Given the description of an element on the screen output the (x, y) to click on. 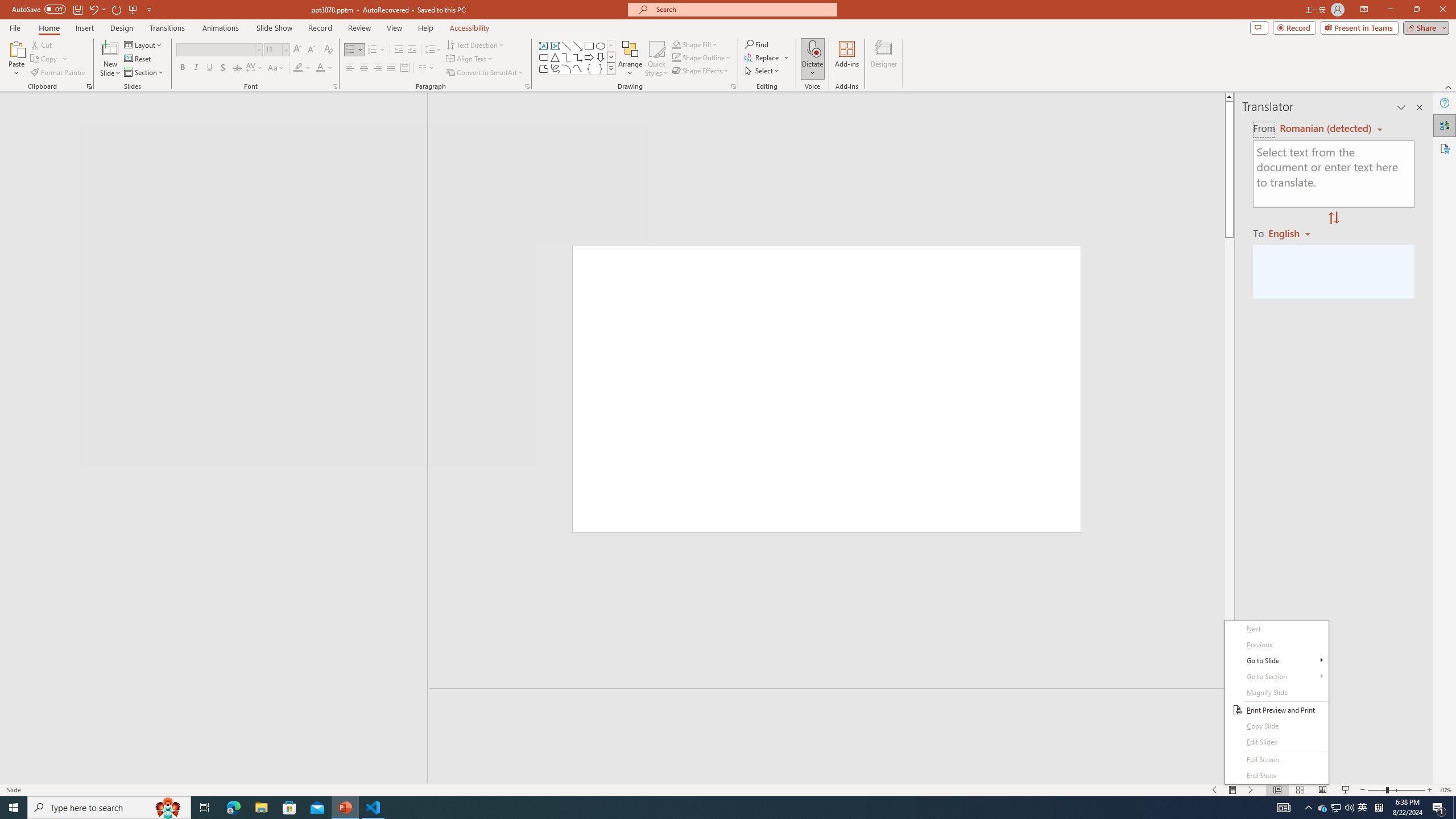
Copy Slide (1276, 726)
Bold (182, 67)
Slide Notes (831, 705)
Isosceles Triangle (554, 57)
Freeform: Scribble (554, 68)
Edit Slides (1276, 742)
